Given the description of an element on the screen output the (x, y) to click on. 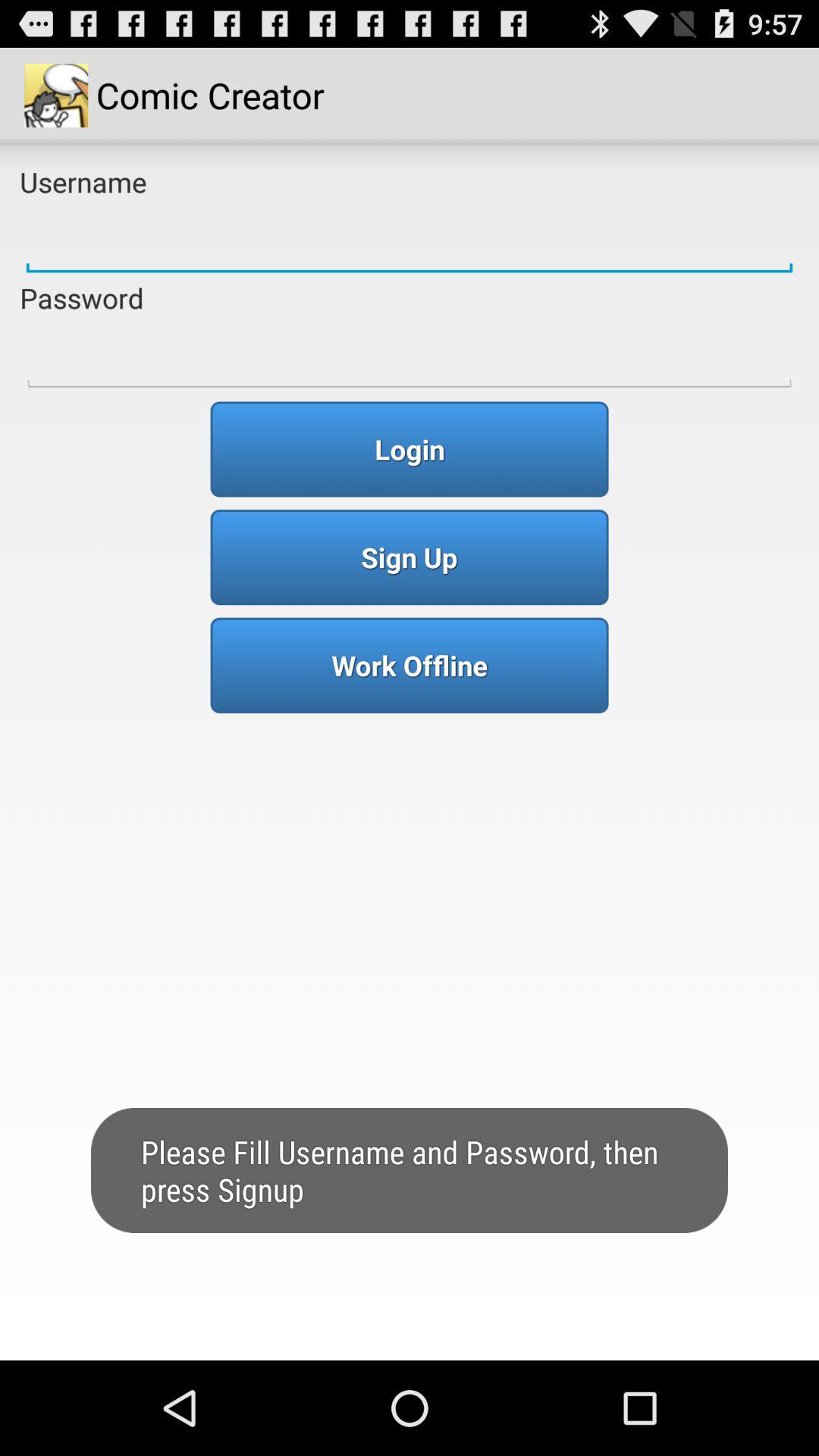
enter username (409, 239)
